Given the description of an element on the screen output the (x, y) to click on. 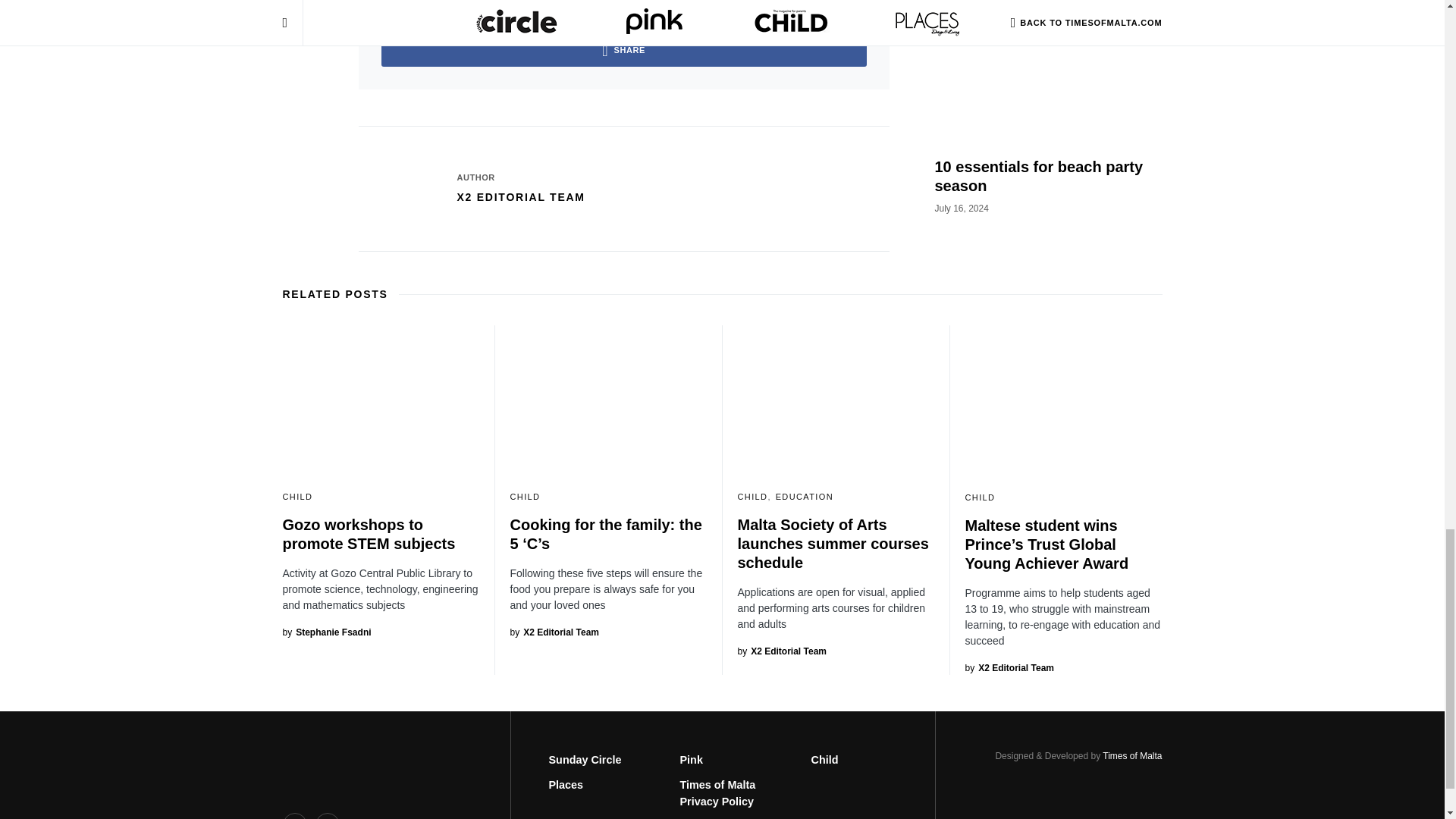
View all posts by X2 Editorial Team (781, 651)
View all posts by X2 Editorial Team (553, 632)
View all posts by X2 Editorial Team (1008, 667)
View all posts by Stephanie Fsadni (326, 632)
